Given the description of an element on the screen output the (x, y) to click on. 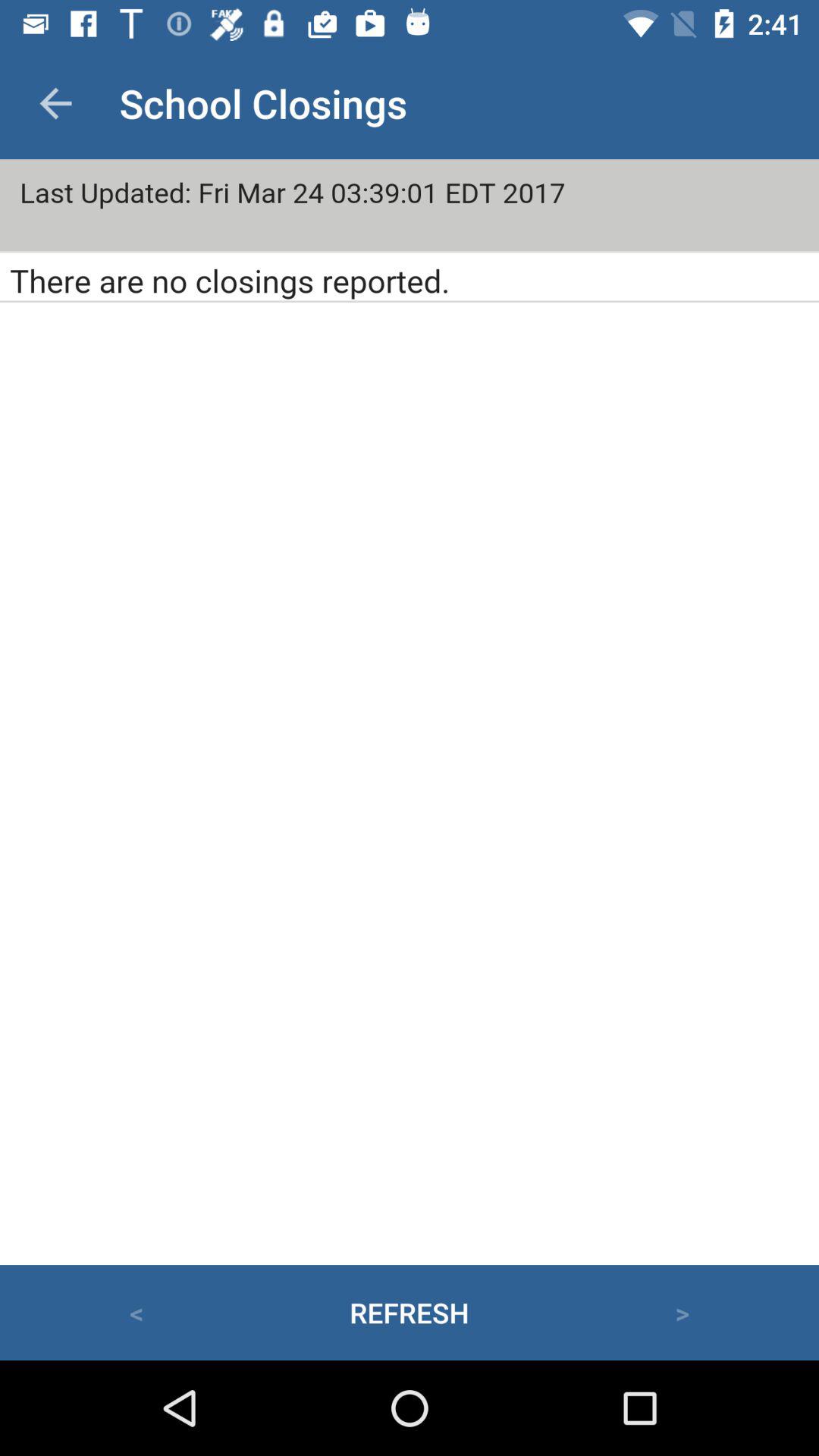
view page (409, 711)
